Given the description of an element on the screen output the (x, y) to click on. 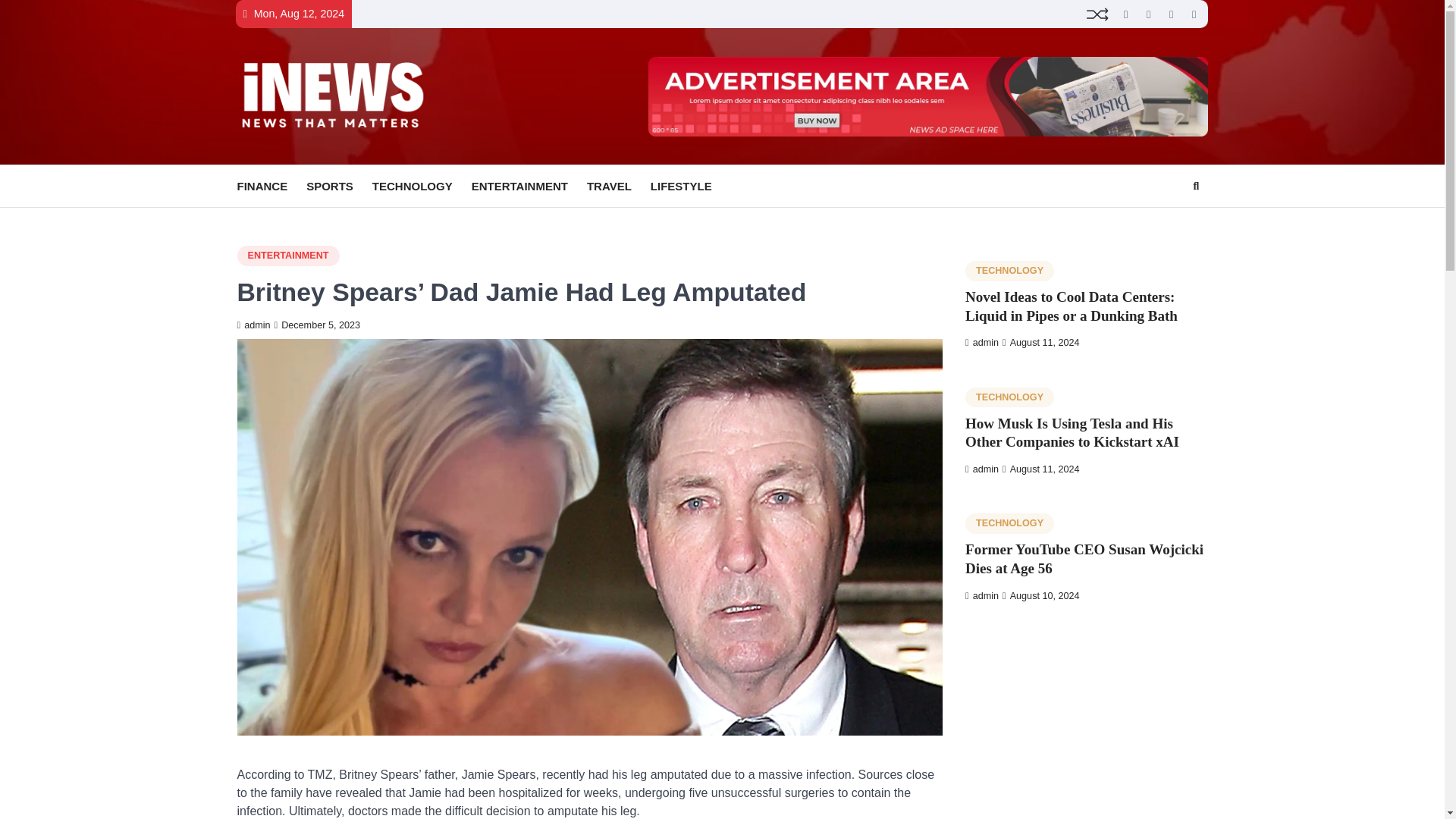
Search (1196, 186)
TRAVEL (618, 187)
December 5, 2023 (318, 325)
ENTERTAINMENT (528, 187)
TECHNOLOGY (1007, 271)
TECHNOLOGY (421, 187)
admin (980, 469)
Instagram (1148, 14)
FINANCE (270, 187)
